Given the description of an element on the screen output the (x, y) to click on. 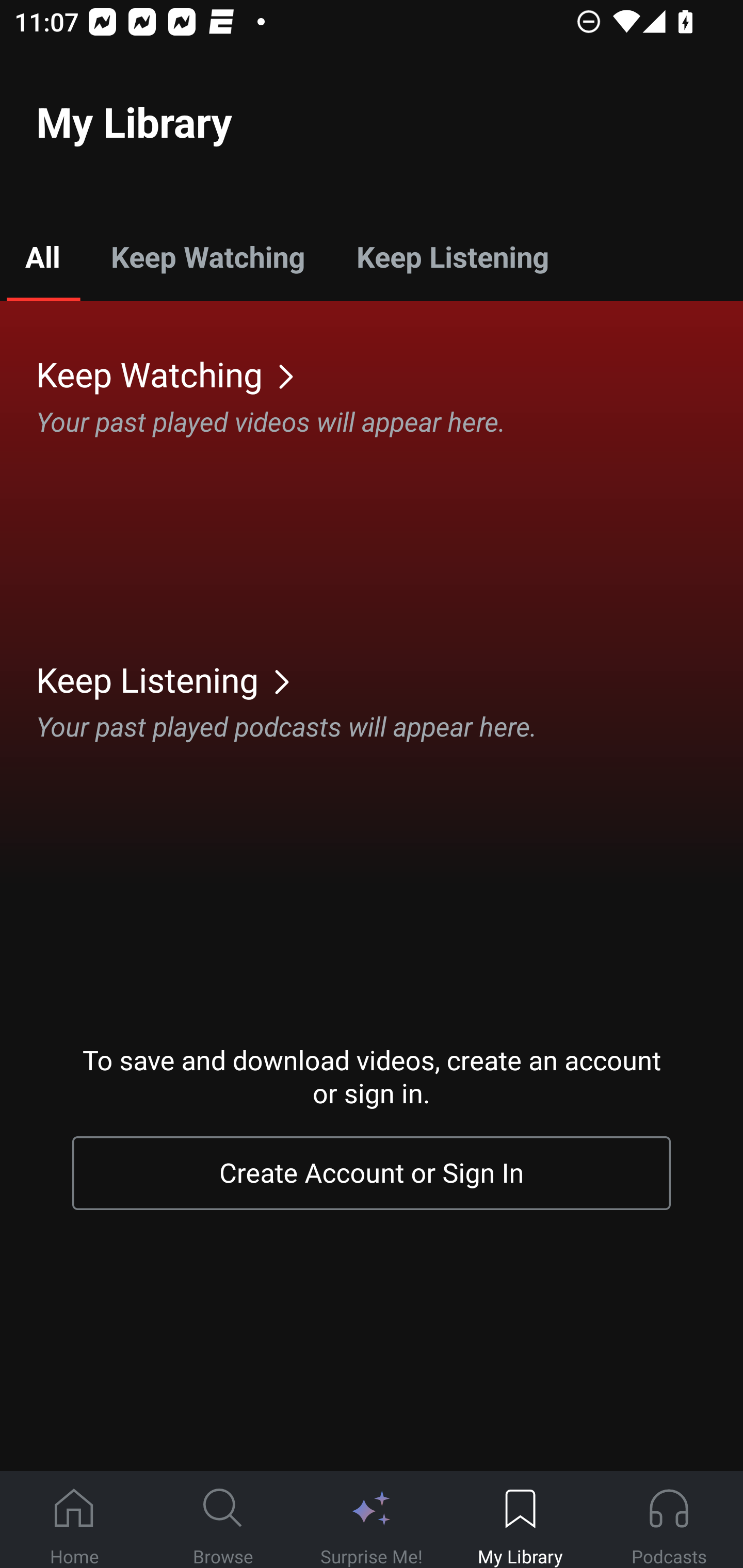
All (42, 256)
Keep Watching (207, 256)
Keep Listening (452, 256)
Keep Watching (389, 373)
Keep Listening (389, 679)
Create Account or Sign In (371, 1173)
Home (74, 1520)
Browse (222, 1520)
Surprise Me! (371, 1520)
My Library (519, 1520)
Podcasts (668, 1520)
